Given the description of an element on the screen output the (x, y) to click on. 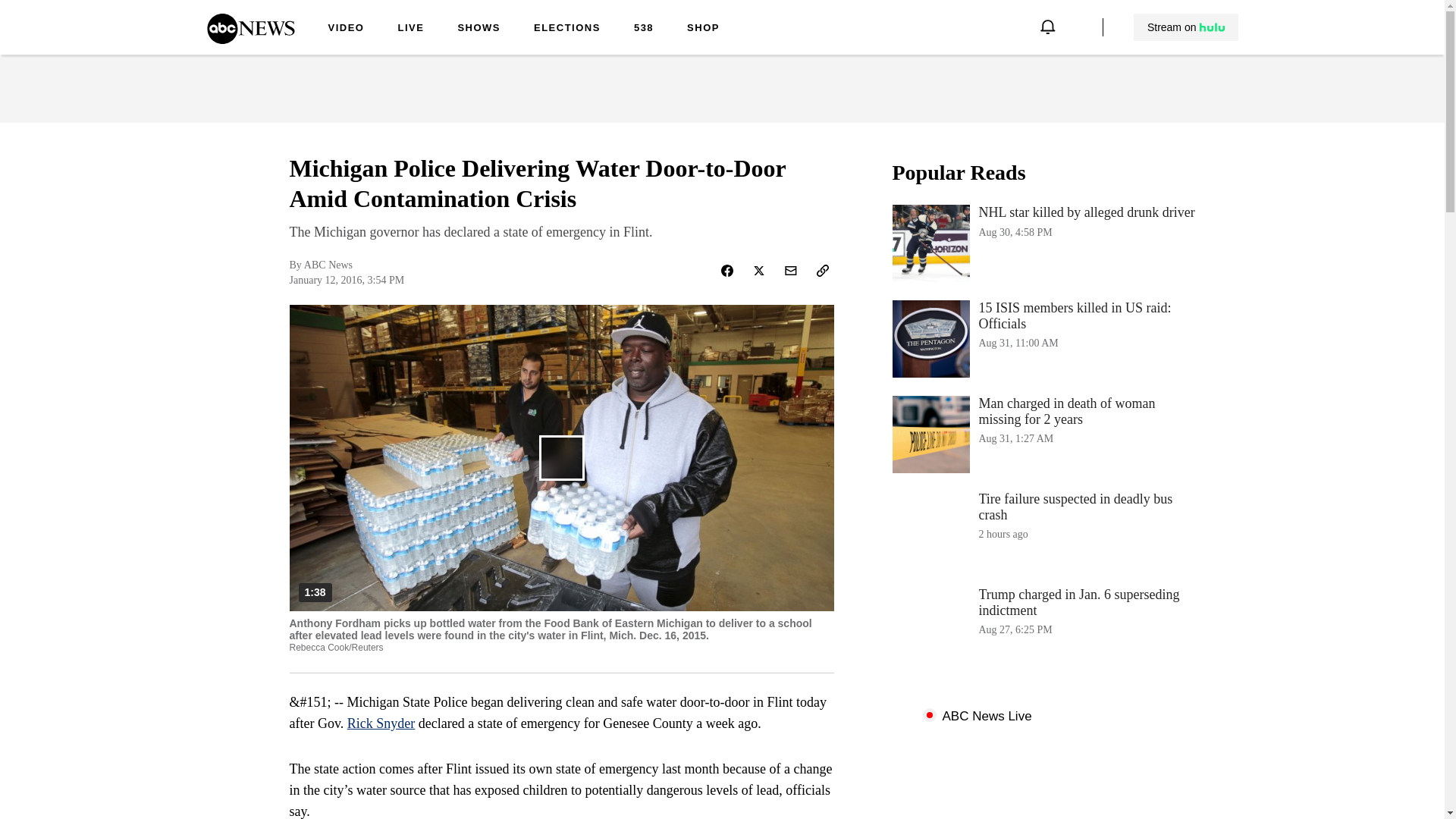
SHOP (1043, 242)
SHOWS (703, 28)
ABC News (478, 28)
LIVE (250, 38)
ELECTIONS (410, 28)
Stream on (566, 28)
